Given the description of an element on the screen output the (x, y) to click on. 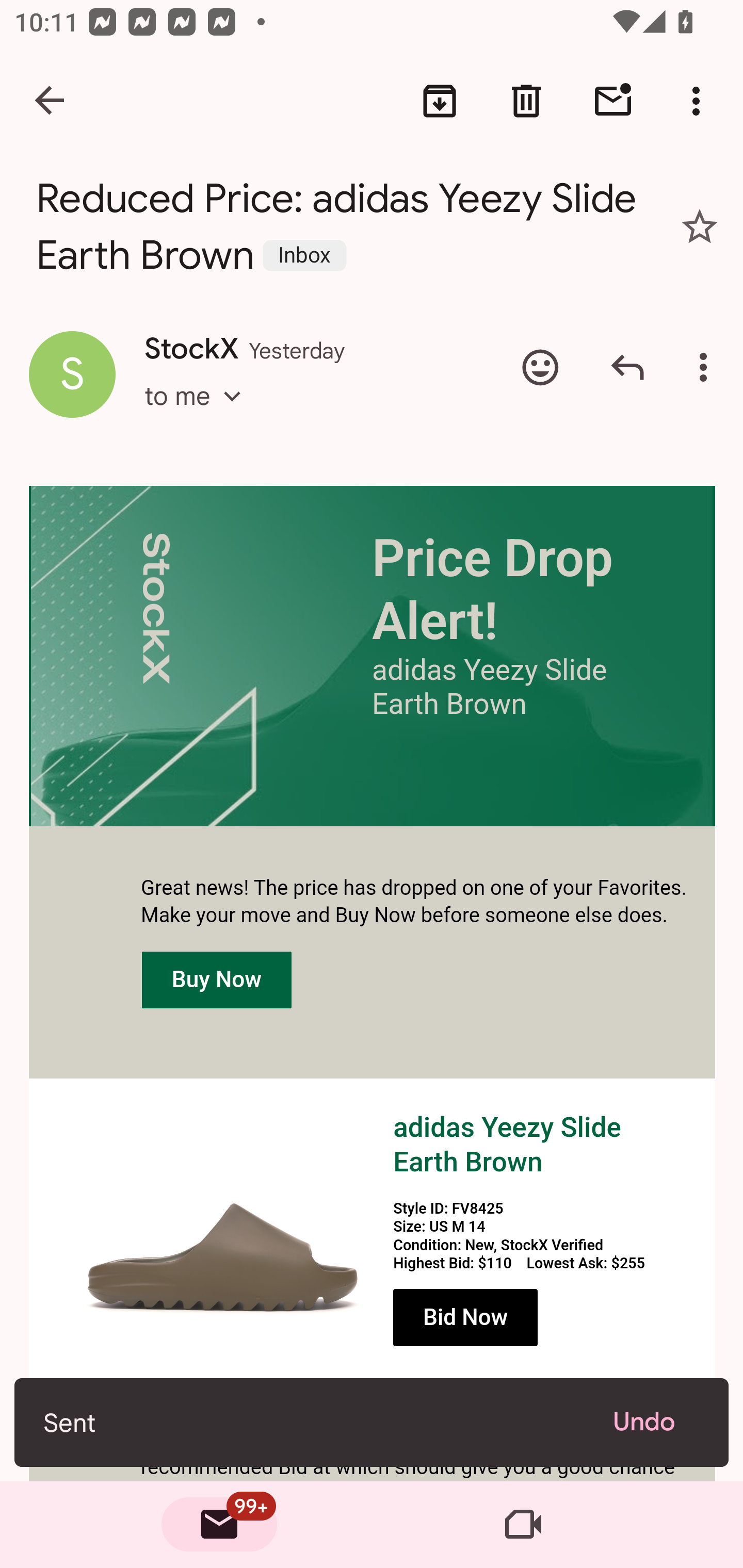
Navigate up (50, 101)
Archive (439, 101)
Delete (525, 101)
Mark unread (612, 101)
More options (699, 101)
Add star (699, 226)
Add emoji reaction (540, 367)
Reply (626, 367)
More options (706, 367)
Show contact information for StockX (71, 373)
to me (199, 414)
Buy Now (216, 979)
adidas Yeezy Slide Earth Brown (506, 1144)
adidas Yeezy Slide Earth Brown (222, 1227)
Bid Now (465, 1317)
Undo (655, 1422)
Meet (523, 1524)
